Given the description of an element on the screen output the (x, y) to click on. 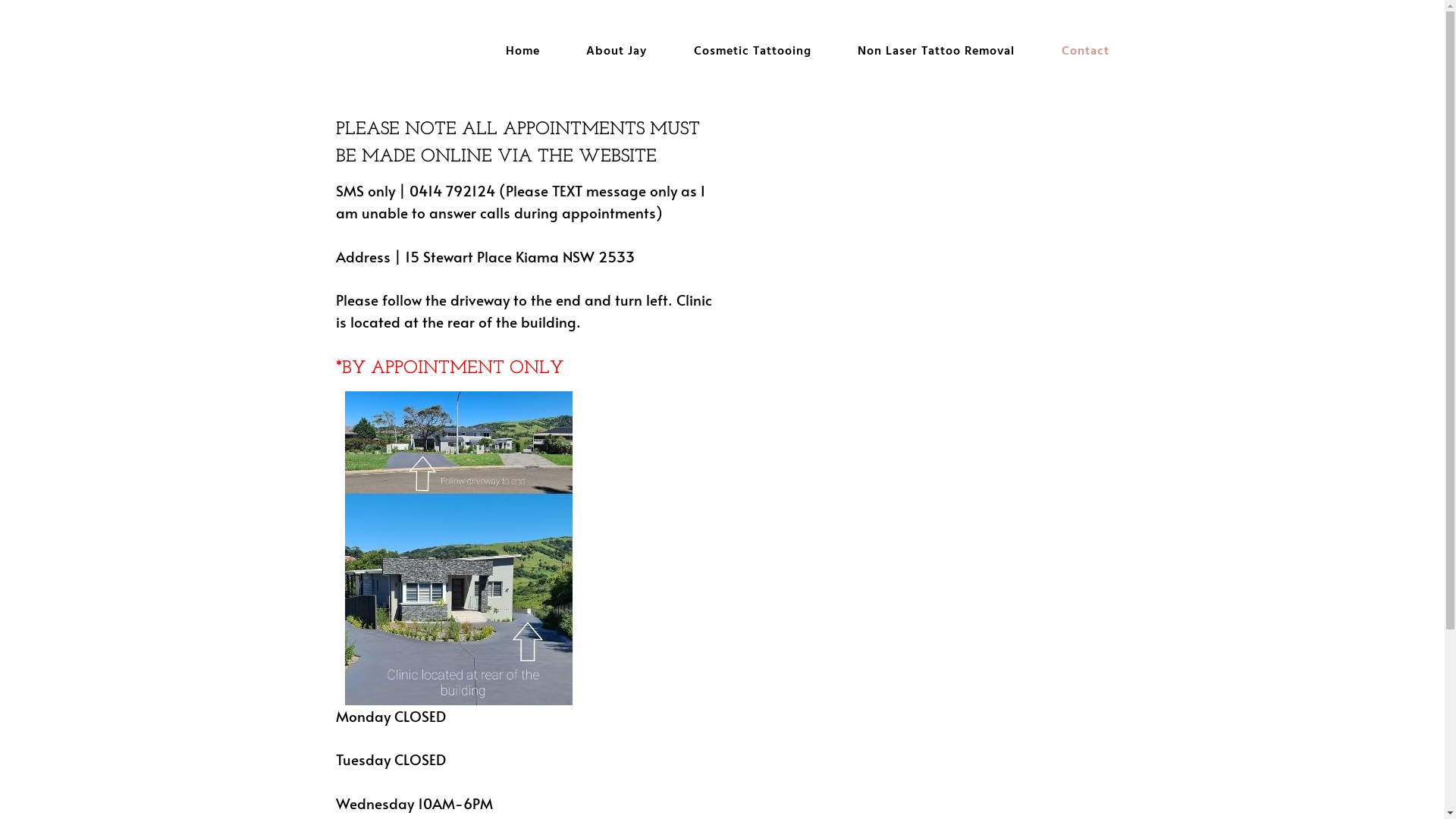
Contact Element type: text (1085, 51)
About Jay Element type: text (616, 51)
Home Element type: text (522, 51)
Cosmetic Tattooing Element type: text (752, 51)
Non Laser Tattoo Removal Element type: text (935, 51)
